Given the description of an element on the screen output the (x, y) to click on. 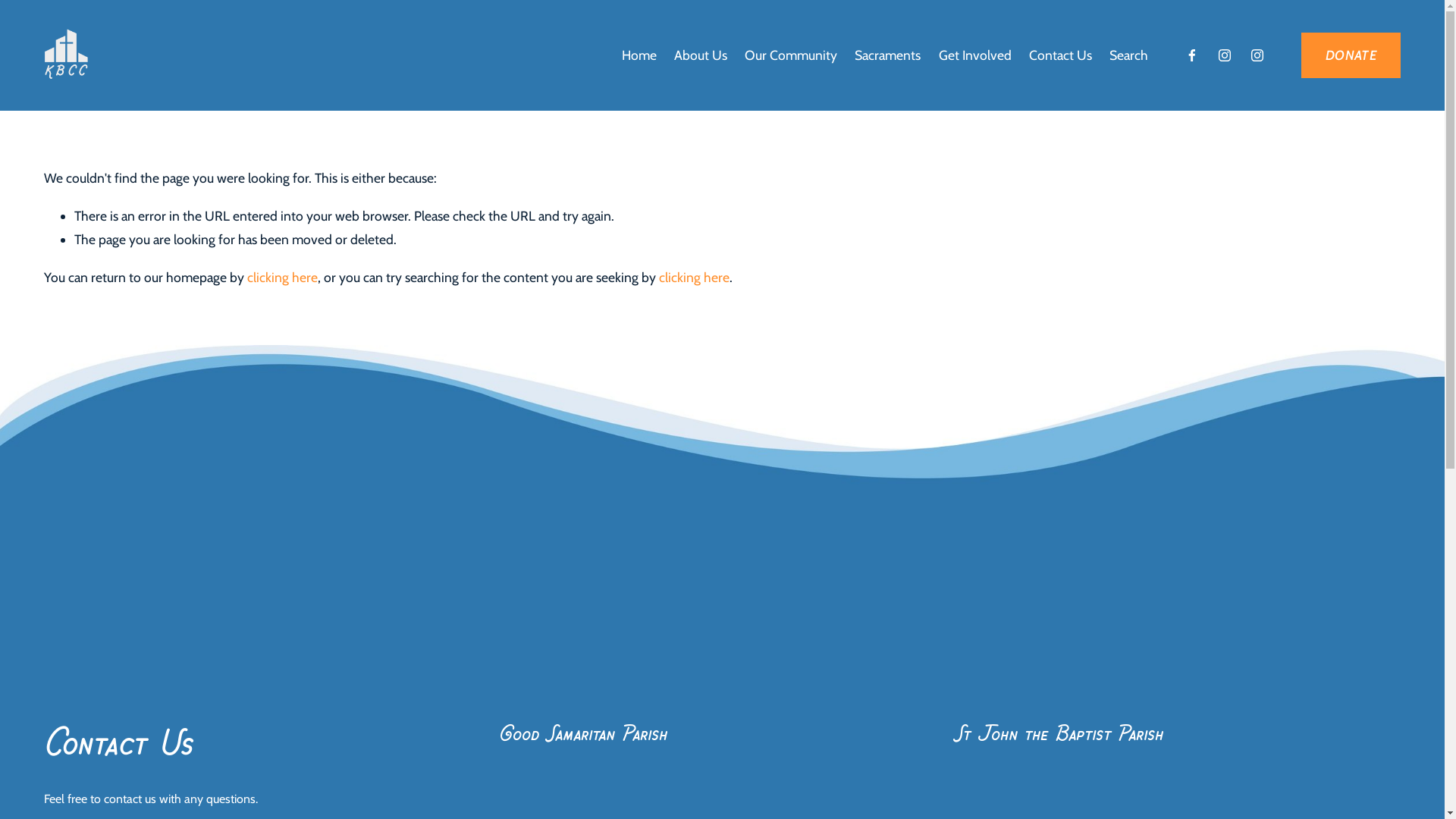
Home Element type: text (638, 54)
Contact Us Element type: text (1060, 54)
DONATE Element type: text (1351, 55)
clicking here Element type: text (693, 277)
Our Community Element type: text (790, 54)
Get Involved Element type: text (974, 54)
About Us Element type: text (700, 54)
Search Element type: text (1128, 54)
Sacraments Element type: text (887, 54)
clicking here Element type: text (282, 277)
